Given the description of an element on the screen output the (x, y) to click on. 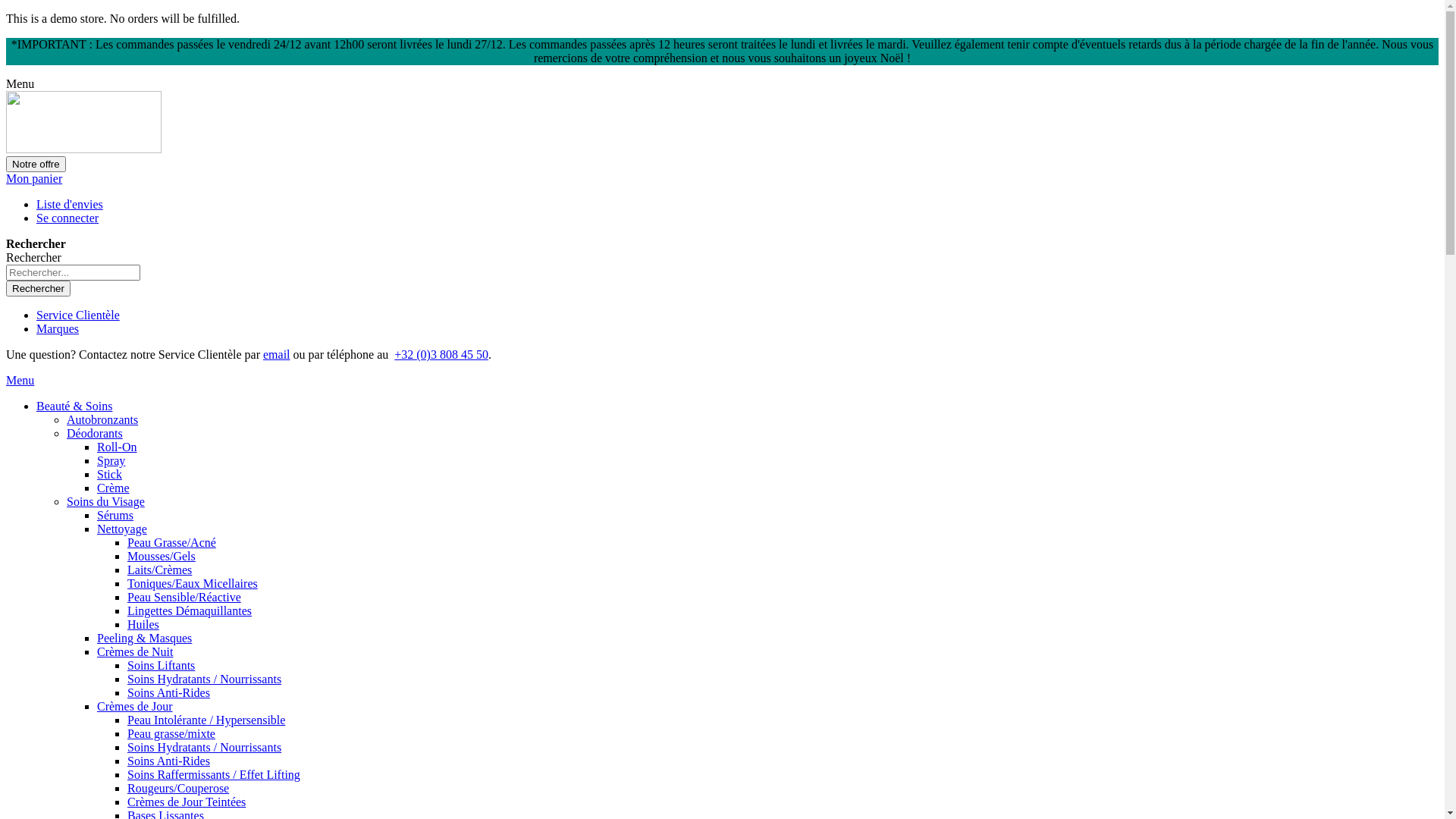
Spray Element type: text (111, 460)
Mon panier Element type: text (34, 178)
Soins Hydratants / Nourrissants Element type: text (204, 678)
Roll-On Element type: text (116, 446)
Nettoyage Element type: text (122, 528)
Peau grasse/mixte Element type: text (171, 733)
email Element type: text (276, 354)
+32 (0)3 808 45 50 Element type: text (441, 354)
Stick Element type: text (109, 473)
Soins du Visage Element type: text (105, 501)
Toniques/Eaux Micellaires Element type: text (192, 583)
Soins Anti-Rides Element type: text (168, 760)
Huiles Element type: text (143, 624)
Autobronzants Element type: text (102, 419)
Liste d'envies Element type: text (69, 203)
Rougeurs/Couperose Element type: text (178, 787)
Soins Liftants Element type: text (160, 664)
Marques Element type: text (57, 328)
Menu Element type: text (20, 379)
Soins Hydratants / Nourrissants Element type: text (204, 746)
Peeling & Masques Element type: text (144, 637)
Soins Raffermissants / Effet Lifting Element type: text (213, 774)
Notre offre Element type: text (35, 164)
Mousses/Gels Element type: text (161, 555)
Rechercher Element type: text (38, 288)
Se connecter Element type: text (67, 217)
Soins Anti-Rides Element type: text (168, 692)
